Given the description of an element on the screen output the (x, y) to click on. 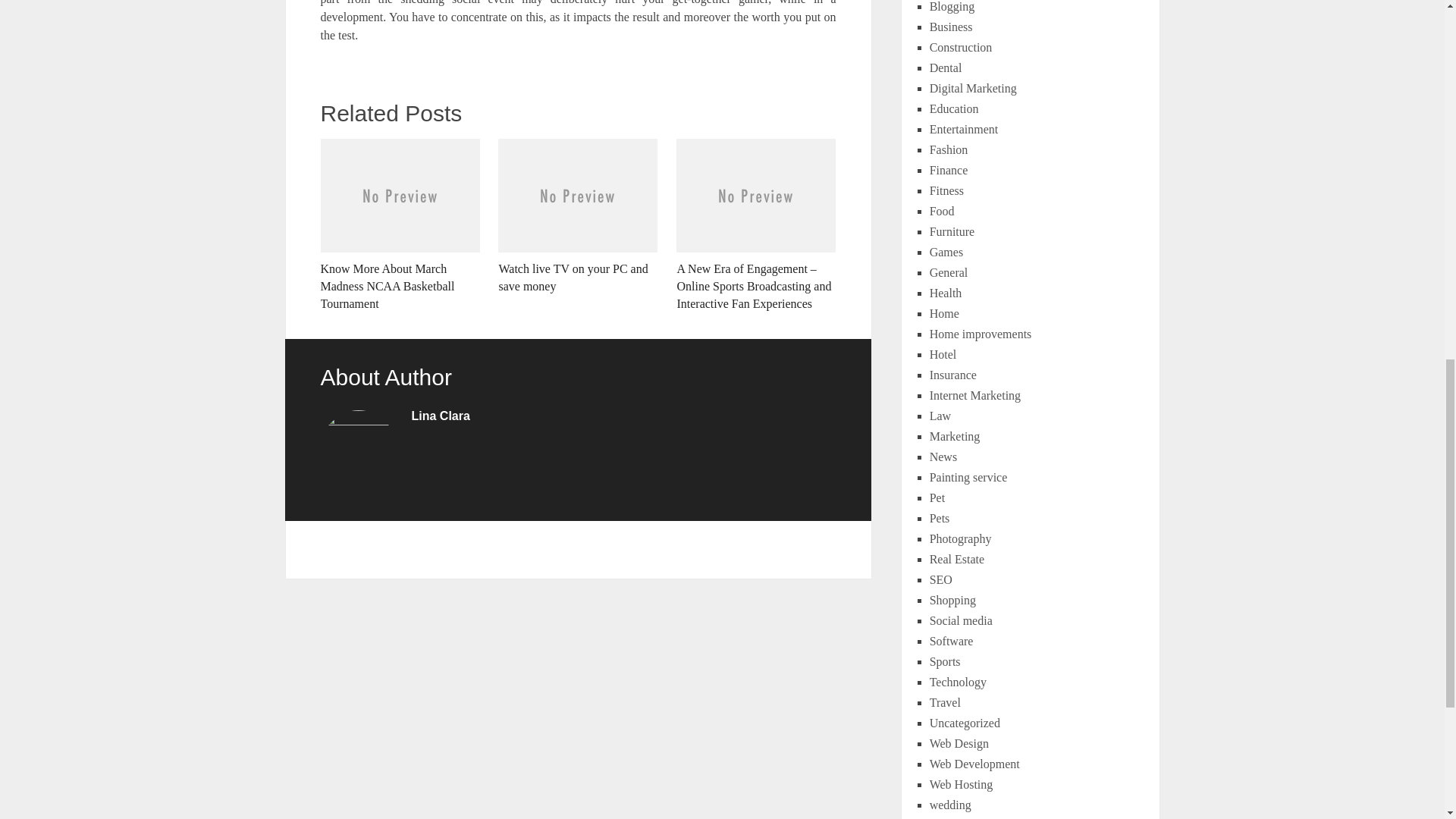
Furniture (952, 231)
Digital Marketing (973, 88)
Blogging (952, 6)
Fitness (946, 190)
Food (942, 210)
Dental (946, 67)
Fashion (949, 149)
Know More About March Madness NCAA Basketball Tournament (399, 225)
Education (954, 108)
Know More About March Madness NCAA Basketball Tournament (399, 225)
